Given the description of an element on the screen output the (x, y) to click on. 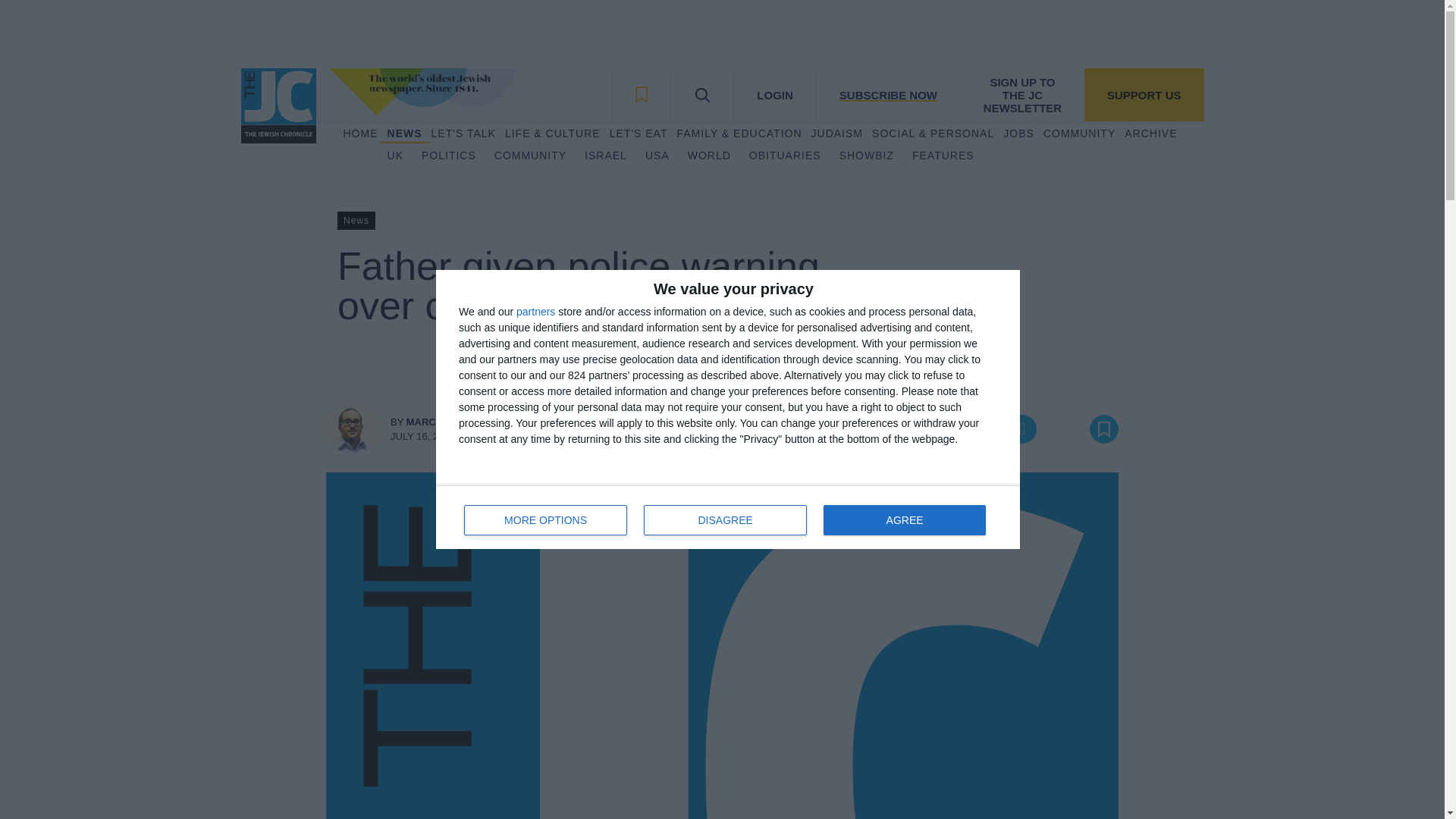
FEATURES (943, 155)
LOGIN (774, 94)
UK (395, 155)
SUPPORT US (1144, 94)
WORLD (708, 155)
partners (535, 311)
JUDAISM (836, 133)
SUBSCRIBE NOW (887, 94)
HOME (359, 133)
SHOWBIZ (866, 155)
NEWS (404, 133)
COMMUNITY (727, 516)
AGREE (530, 155)
JOBS (904, 520)
